Given the description of an element on the screen output the (x, y) to click on. 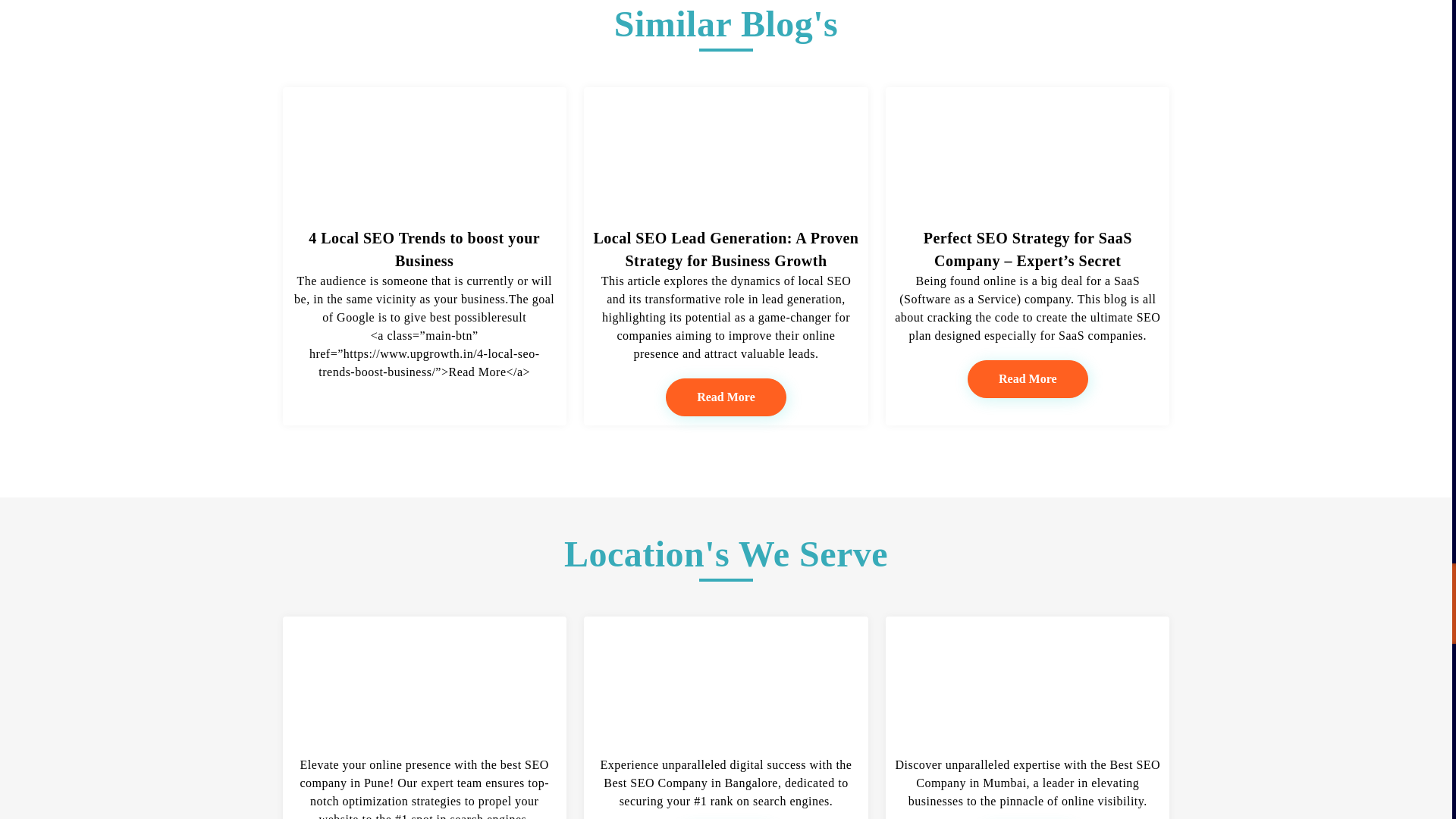
Read More (1027, 379)
Read More (725, 397)
